Given the description of an element on the screen output the (x, y) to click on. 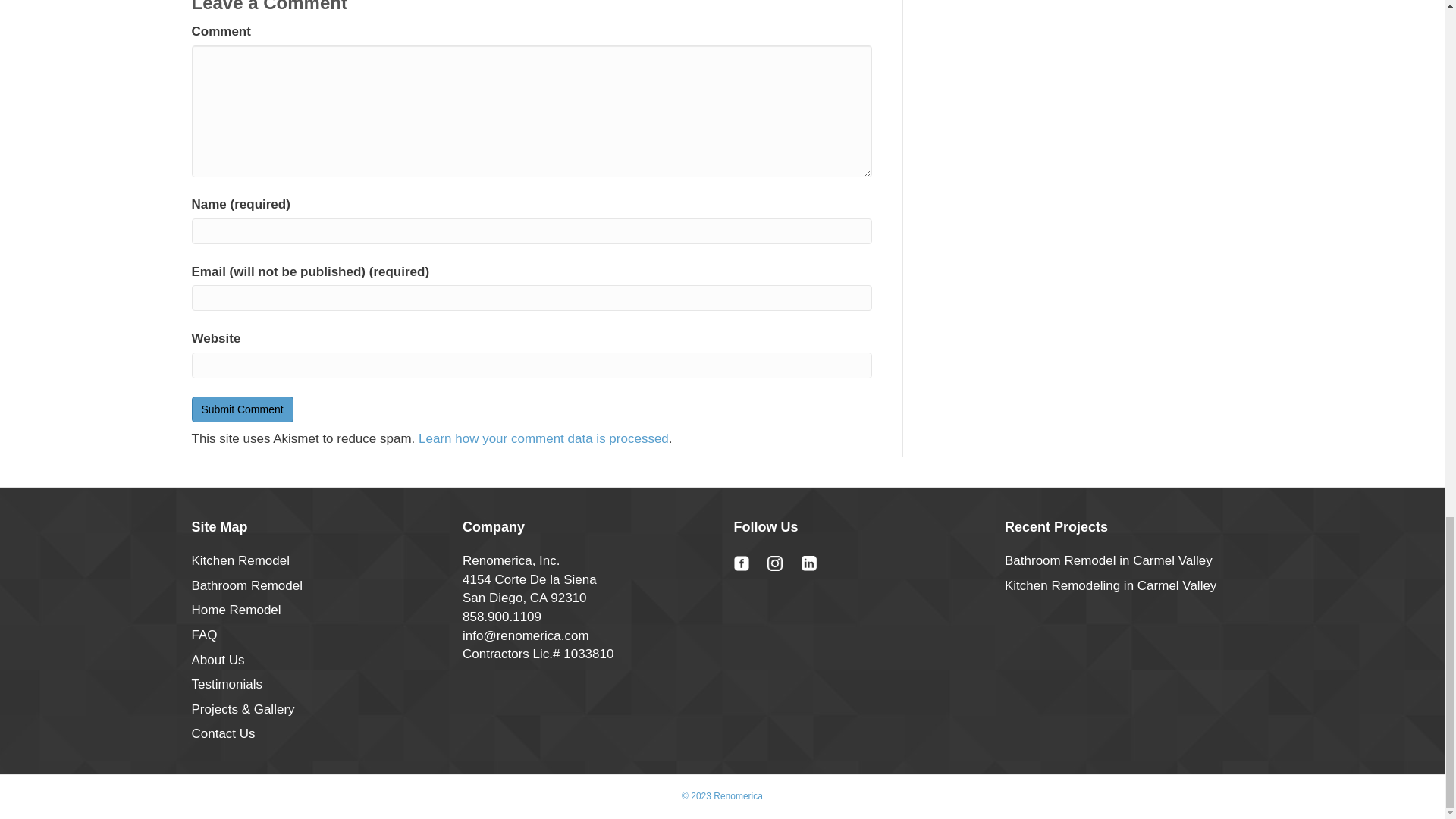
Home Remodel (235, 609)
Submit Comment (241, 409)
FAQ (203, 635)
Learn how your comment data is processed (543, 438)
Submit Comment (241, 409)
Kitchen Remodel (239, 560)
Bathroom Remodel (245, 585)
